Given the description of an element on the screen output the (x, y) to click on. 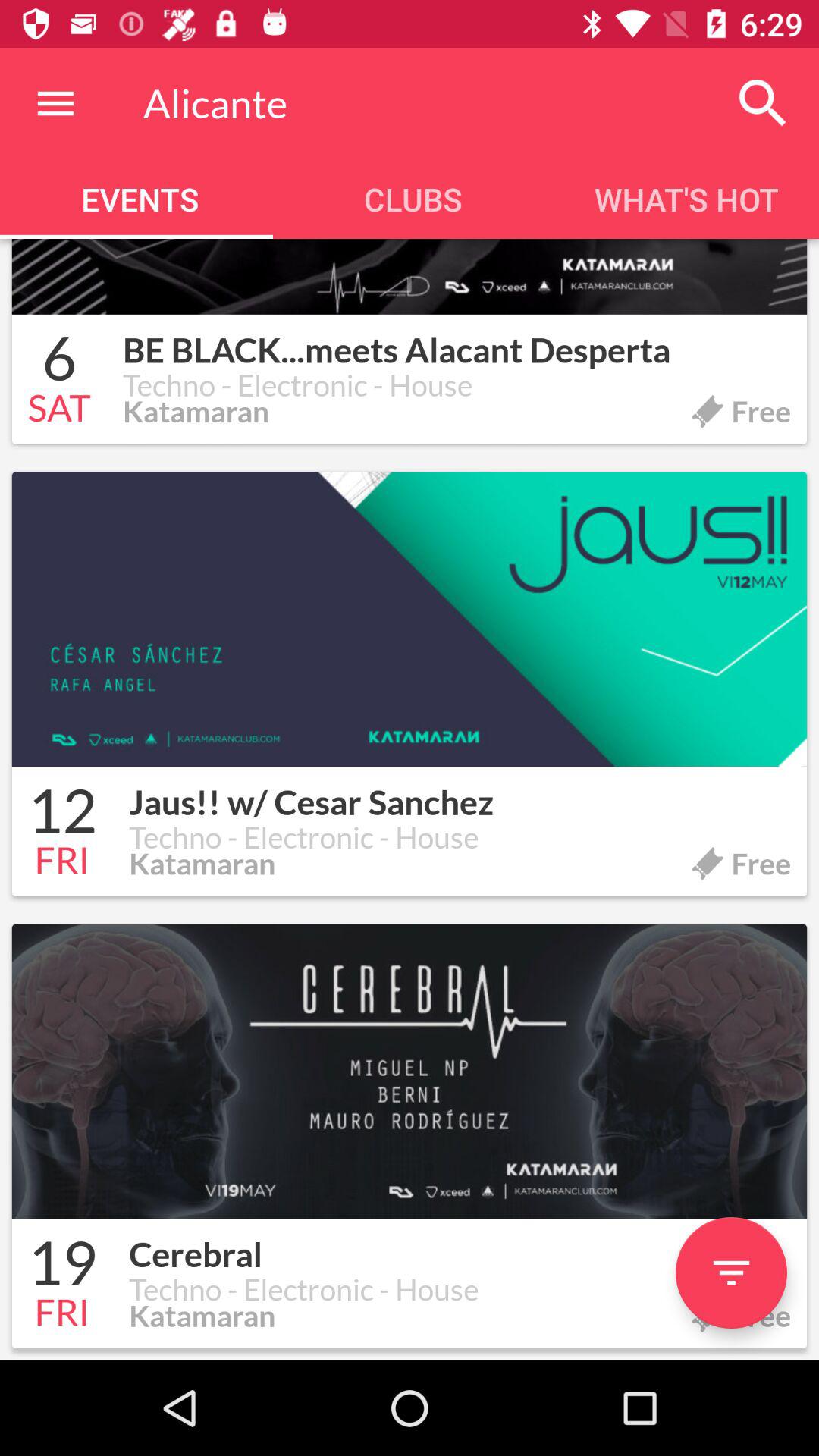
tap the item to the left of techno - electronic - house (59, 409)
